Given the description of an element on the screen output the (x, y) to click on. 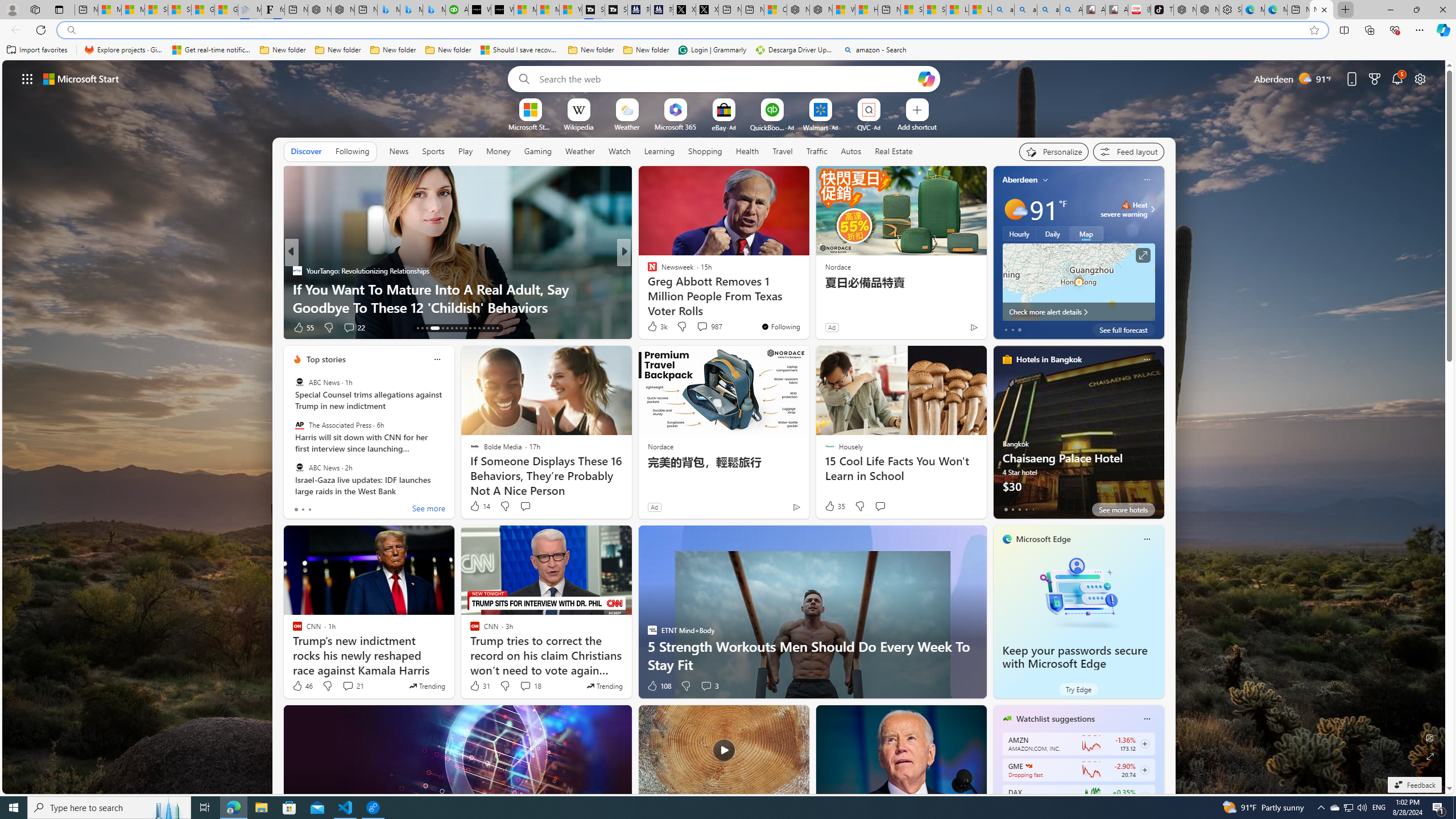
Keep your passwords secure with Microsoft Edge (1077, 592)
See full forecast (1123, 329)
Money (497, 151)
tab-1 (1012, 509)
TikTok (1161, 9)
Favorites bar (728, 49)
AutomationID: tab-18 (446, 328)
Traffic (816, 151)
Microsoft start (81, 78)
Hourly (1018, 233)
